Given the description of an element on the screen output the (x, y) to click on. 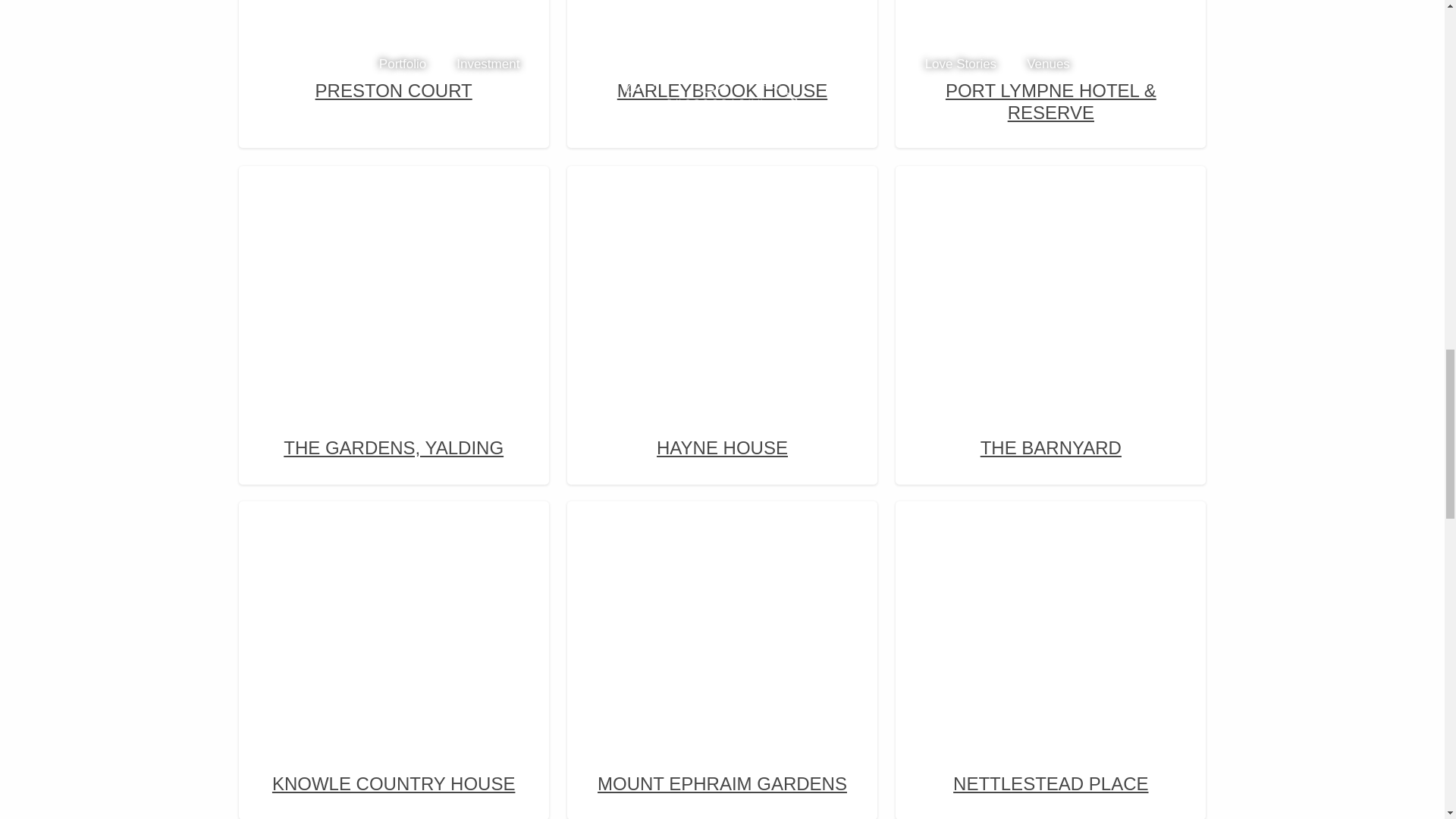
Marleybrook House (721, 11)
KNOWLE COUNTRY HOUSE (393, 657)
THE BARNYARD (1050, 322)
Hayne House (721, 275)
PRESTON COURT (393, 58)
Preston Court (393, 11)
NETTLESTEAD PLACE (1050, 657)
MARLEYBROOK HOUSE (721, 58)
Knowle Country House (393, 610)
MOUNT EPHRAIM GARDENS (721, 657)
